Given the description of an element on the screen output the (x, y) to click on. 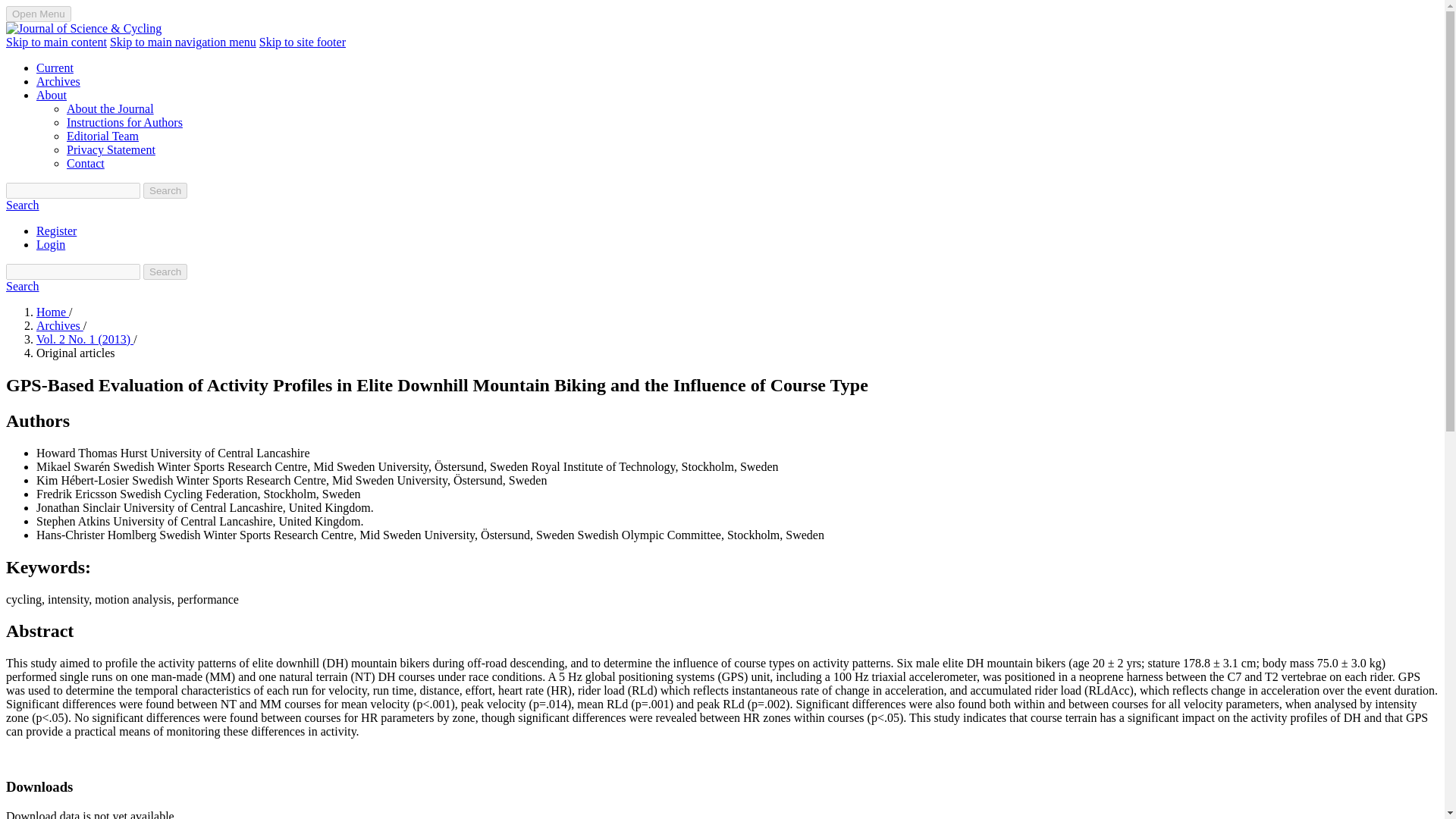
Login (50, 244)
Archives (58, 81)
Search (22, 205)
Archives (59, 325)
Search (164, 271)
Current (55, 67)
Search (22, 286)
Editorial Team (102, 135)
About (51, 94)
Home (52, 311)
Skip to site footer (302, 42)
Privacy Statement (110, 149)
Register (56, 230)
Open Menu (38, 13)
Search (164, 190)
